Given the description of an element on the screen output the (x, y) to click on. 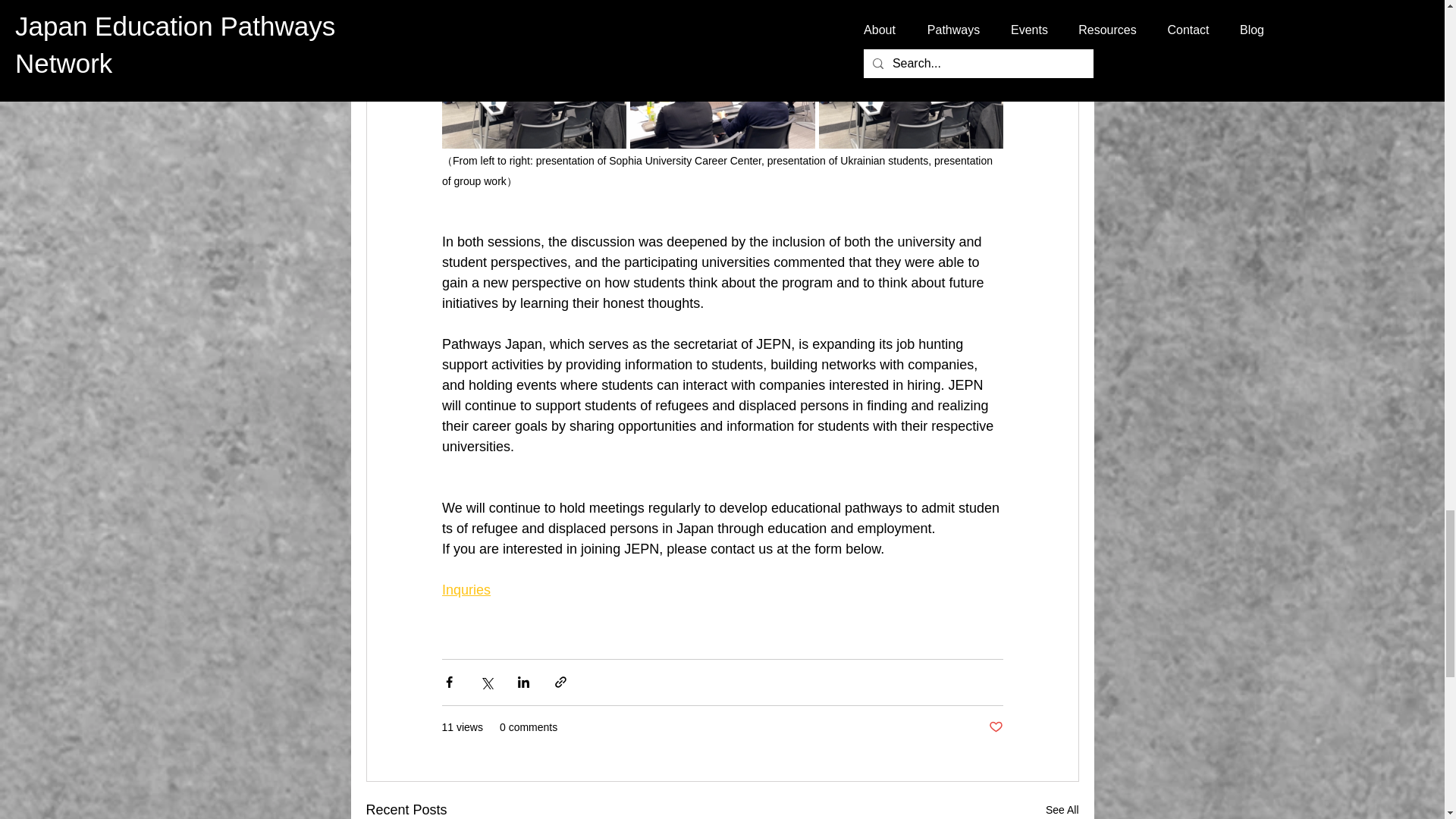
Inquries (465, 589)
See All (1061, 809)
Post not marked as liked (995, 726)
